Given the description of an element on the screen output the (x, y) to click on. 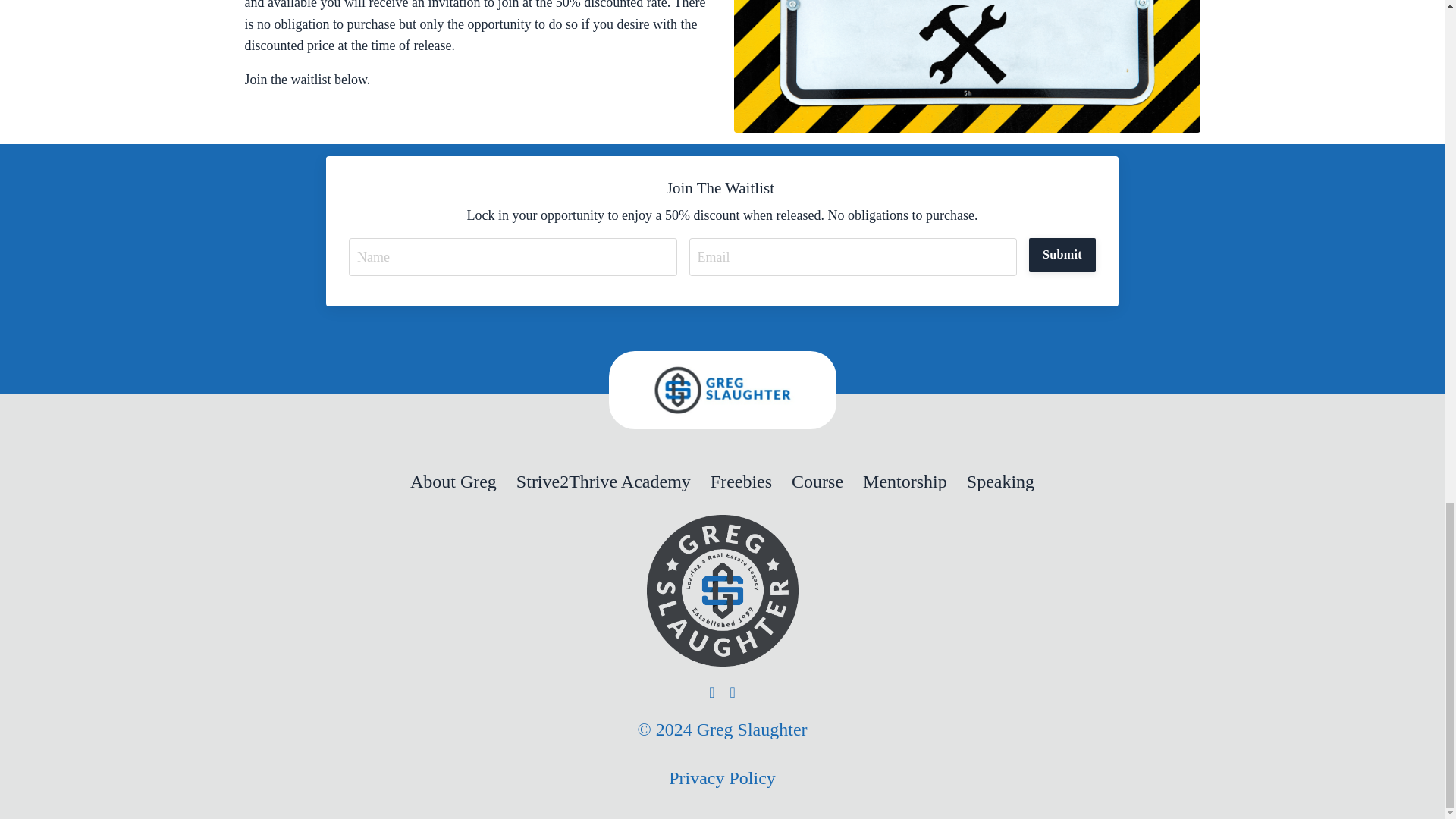
Speaking (999, 481)
About Greg (453, 481)
Mentorship (905, 481)
Strive2Thrive Academy (603, 481)
Freebies (740, 481)
Course (817, 481)
Submit (1062, 254)
Privacy Policy (722, 777)
